Given the description of an element on the screen output the (x, y) to click on. 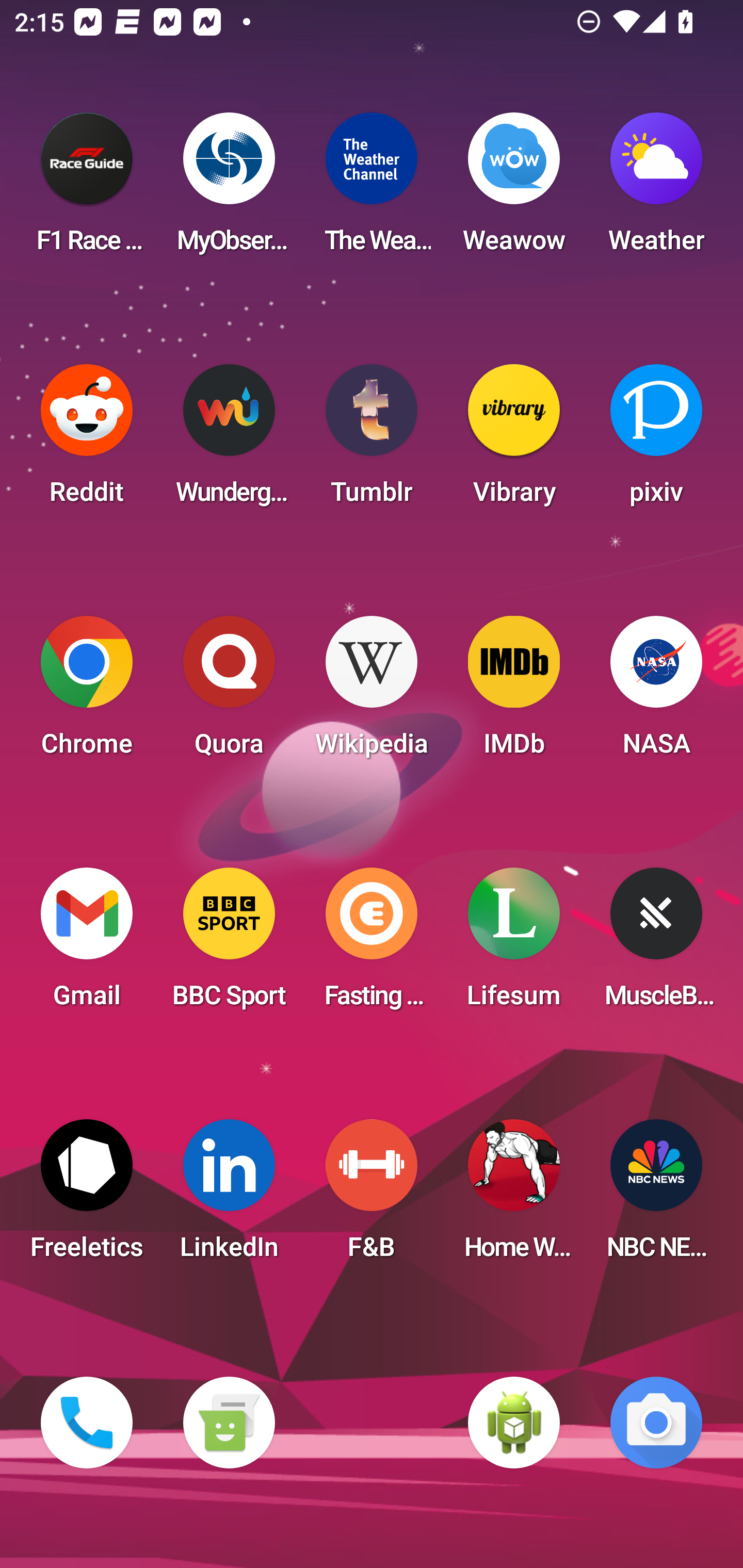
F1 Race Guide (86, 188)
MyObservatory (228, 188)
The Weather Channel (371, 188)
Weawow (513, 188)
Weather (656, 188)
Reddit (86, 440)
Wunderground (228, 440)
Tumblr (371, 440)
Vibrary (513, 440)
pixiv (656, 440)
Chrome (86, 692)
Quora (228, 692)
Wikipedia (371, 692)
IMDb (513, 692)
NASA (656, 692)
Gmail (86, 943)
BBC Sport (228, 943)
Fasting Coach (371, 943)
Lifesum (513, 943)
MuscleBooster (656, 943)
Freeletics (86, 1195)
LinkedIn (228, 1195)
F&B (371, 1195)
Home Workout (513, 1195)
NBC NEWS (656, 1195)
Phone (86, 1422)
Messaging (228, 1422)
WebView Browser Tester (513, 1422)
Camera (656, 1422)
